Given the description of an element on the screen output the (x, y) to click on. 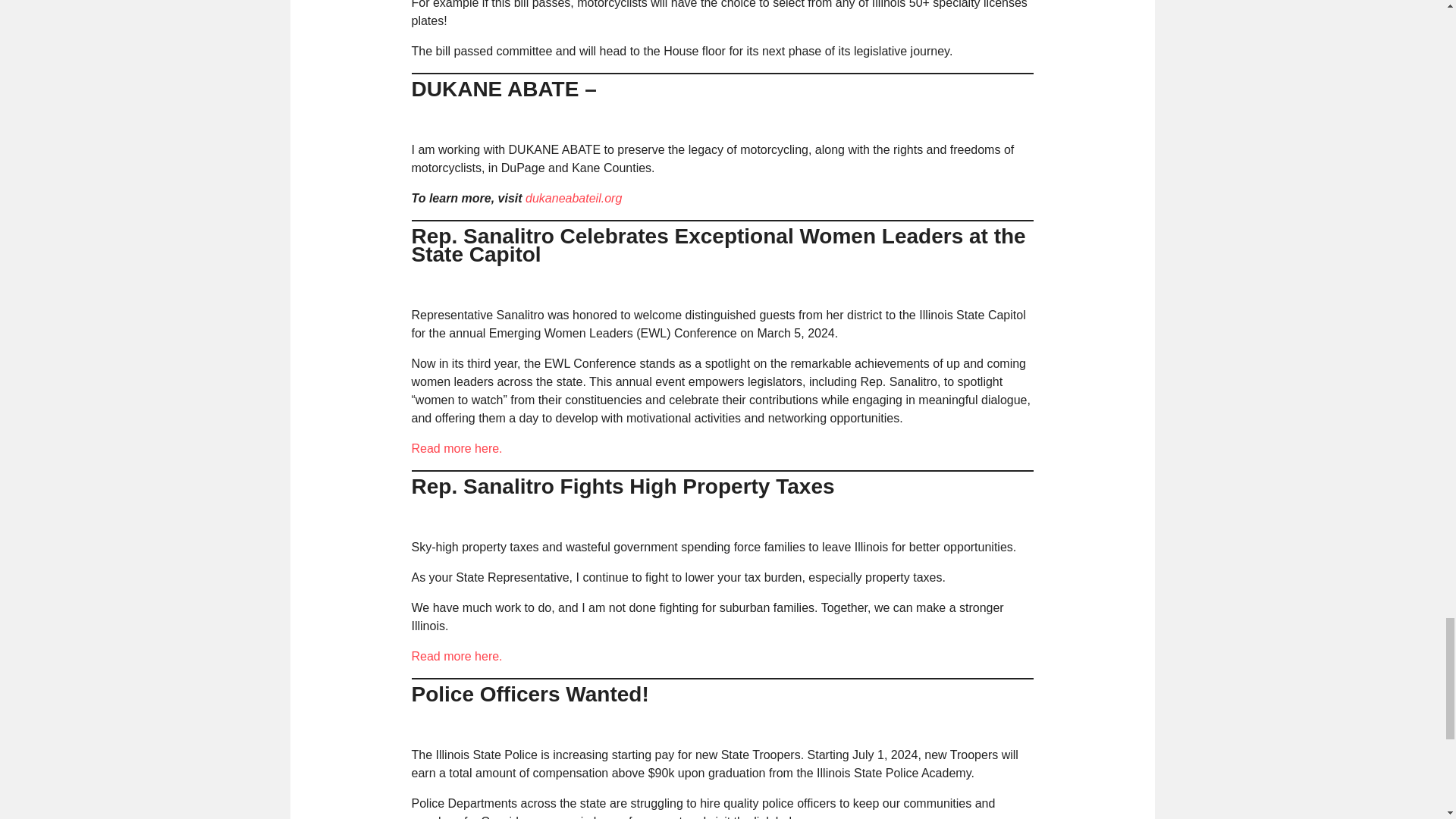
dukaneabateil.org (573, 197)
Read more here. (456, 656)
Read more here. (456, 448)
